Given the description of an element on the screen output the (x, y) to click on. 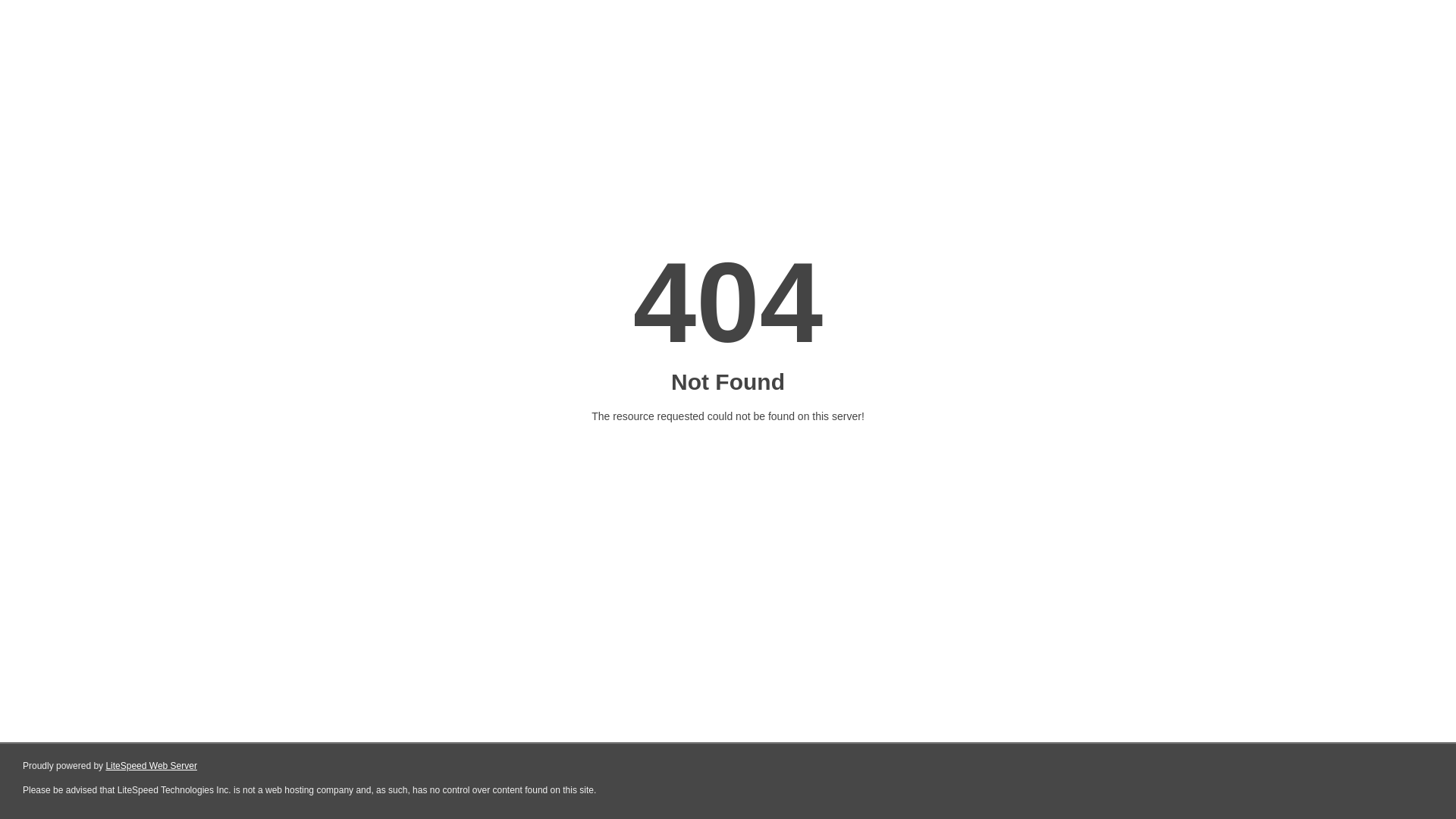
LiteSpeed Web Server (150, 765)
